Given the description of an element on the screen output the (x, y) to click on. 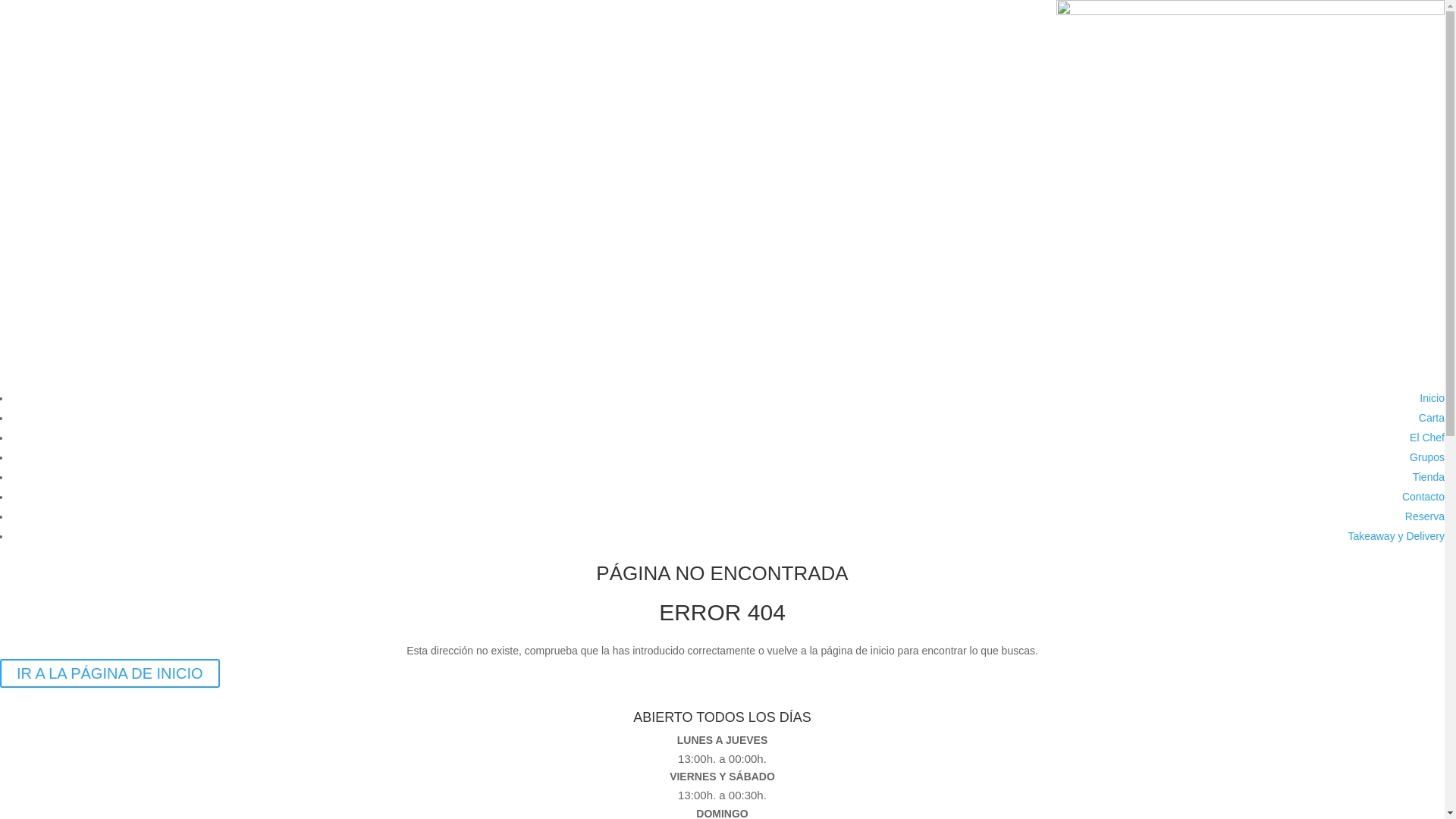
Contacto Element type: text (1423, 496)
Inicio Element type: text (1431, 398)
Takeaway y Delivery Element type: text (1395, 536)
Grupos Element type: text (1426, 457)
El Chef Element type: text (1426, 437)
Carta Element type: text (1431, 417)
Tienda Element type: text (1428, 476)
Reserva Element type: text (1424, 516)
